Given the description of an element on the screen output the (x, y) to click on. 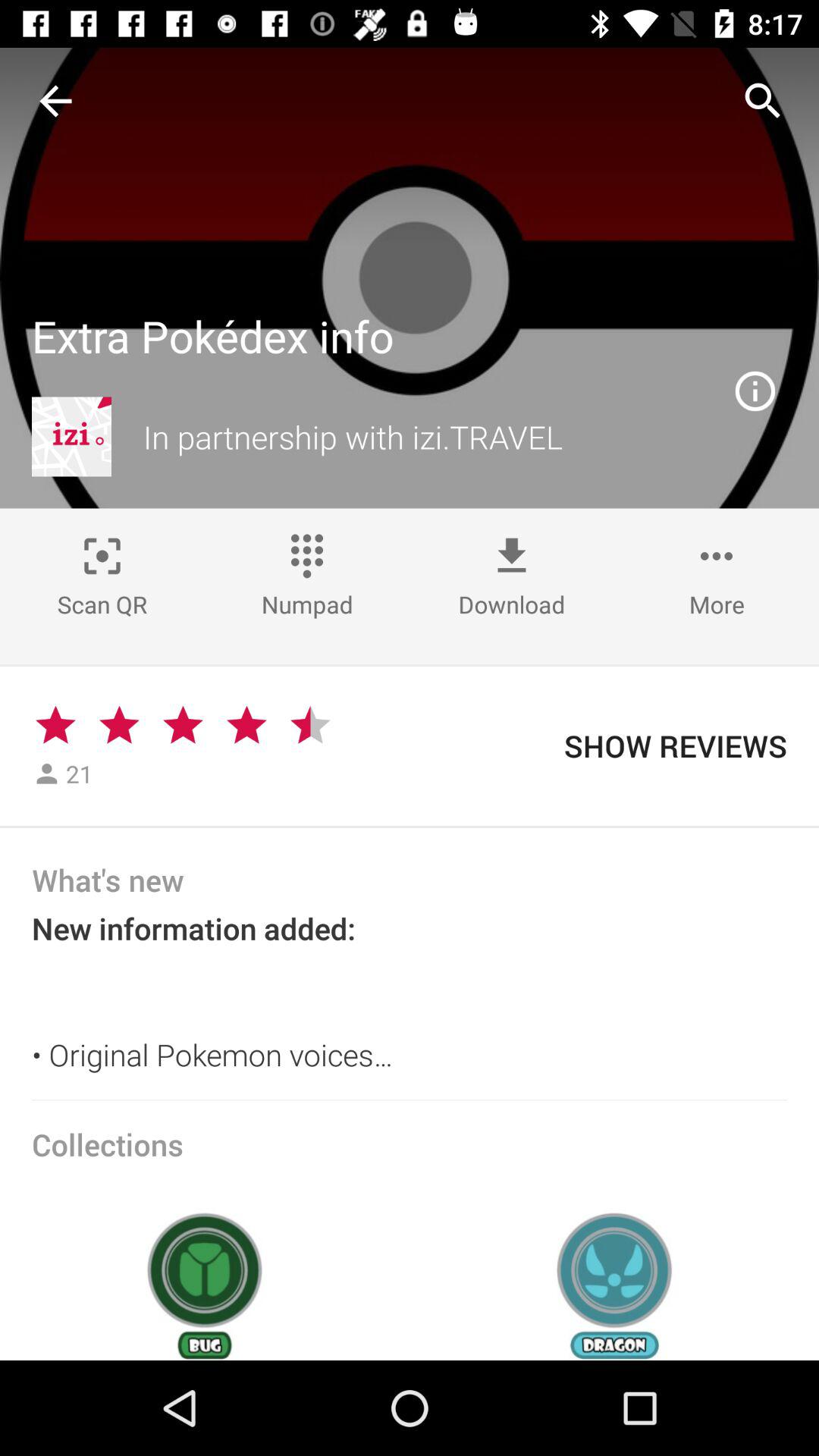
select icon below the what's new icon (409, 999)
